Given the description of an element on the screen output the (x, y) to click on. 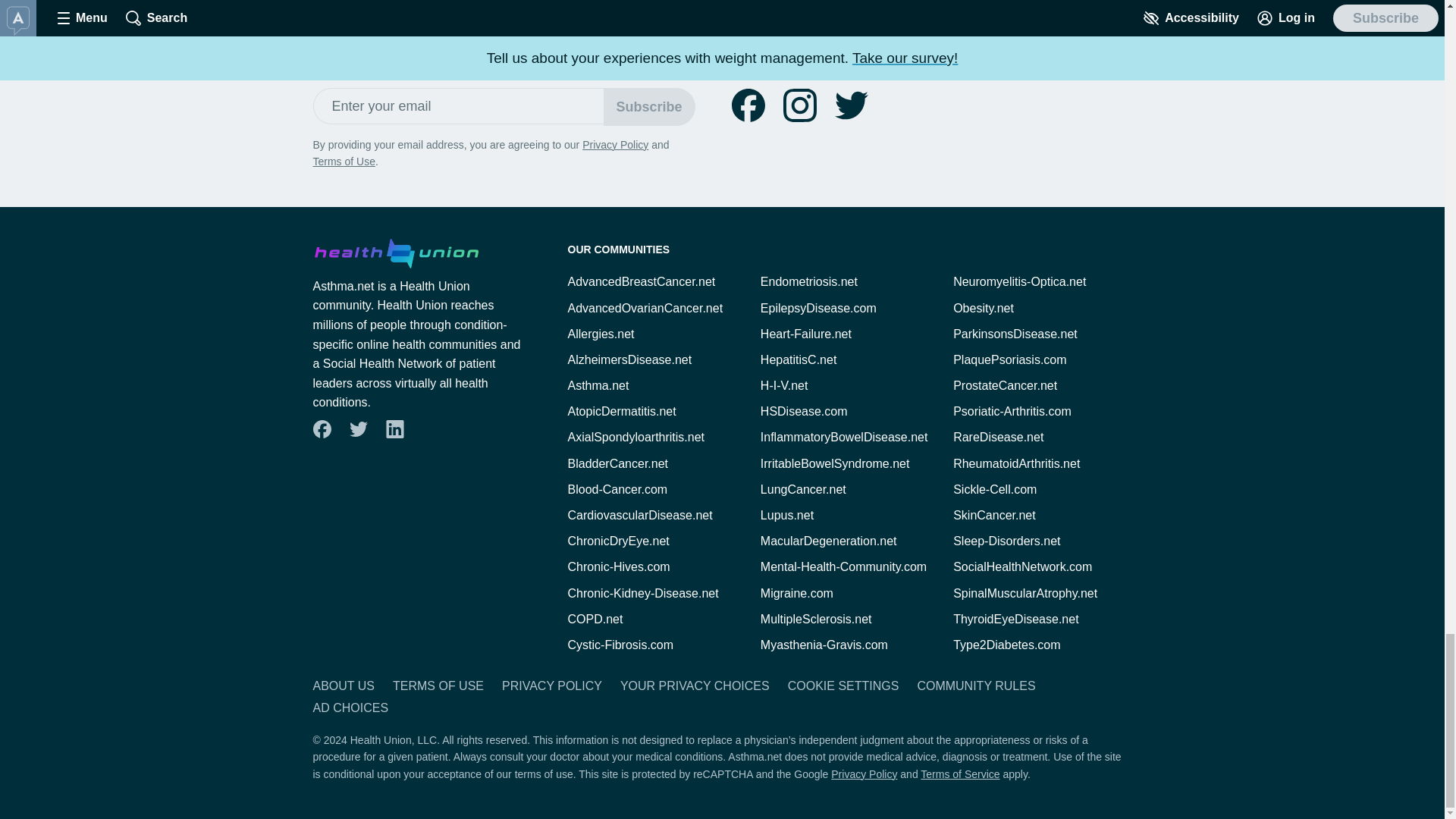
Privacy Policy (614, 144)
Follow us on instagram (799, 105)
Follow us on facebook (747, 105)
Follow us on instagram (799, 105)
Follow us on facebook (747, 105)
Subscribe (649, 106)
Terms of Use (343, 161)
Follow us on twitter (850, 105)
Follow us on facebook (321, 429)
Follow us on twitter (357, 429)
